Given the description of an element on the screen output the (x, y) to click on. 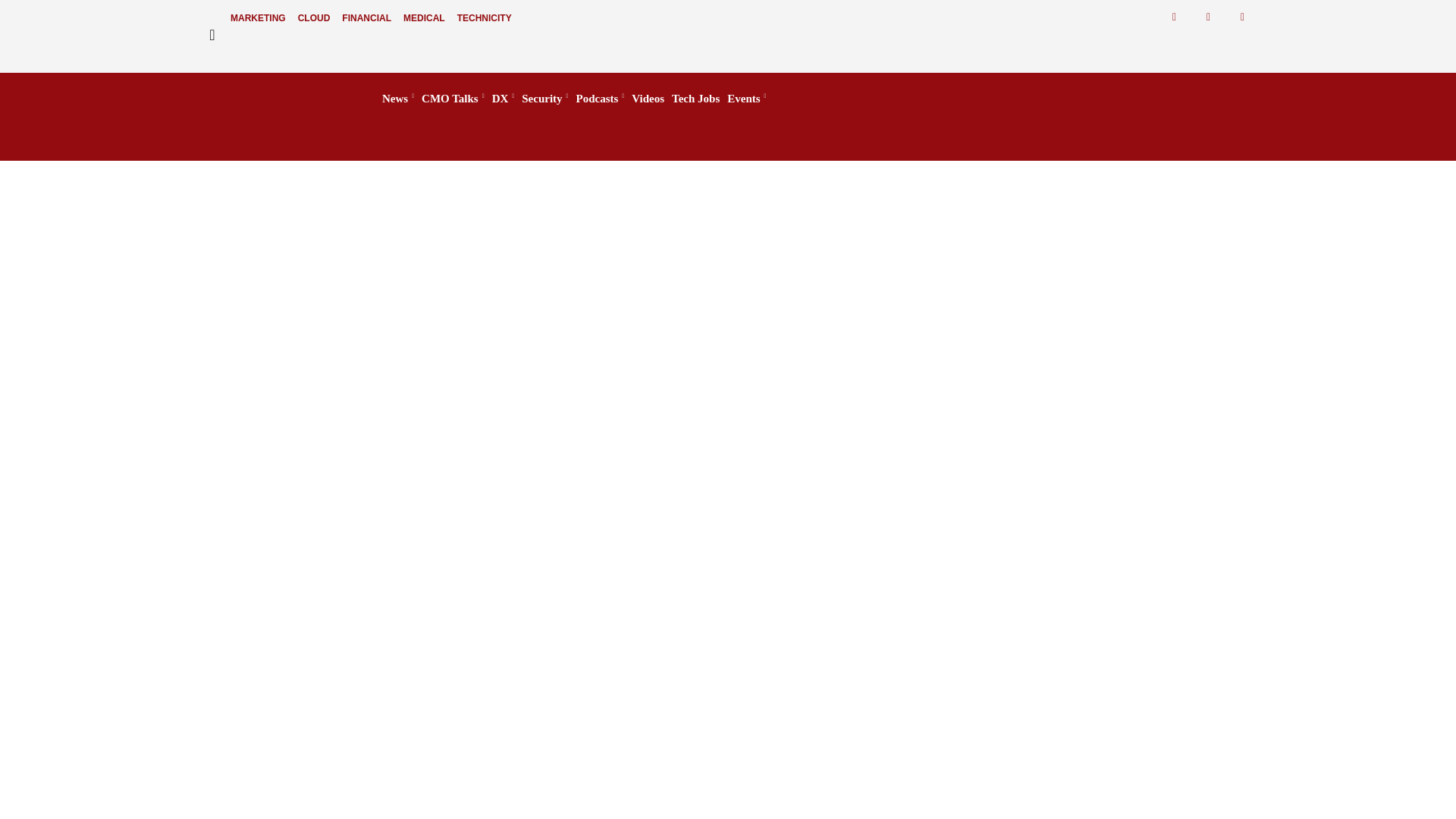
FINANCIAL (366, 18)
CLOUD (314, 18)
IT World Canada - IT News (276, 98)
Twitter (1208, 17)
TECHNICITY (484, 18)
MEDICAL (424, 18)
MARKETING (258, 18)
Rss (1241, 17)
Facebook (1174, 17)
